Given the description of an element on the screen output the (x, y) to click on. 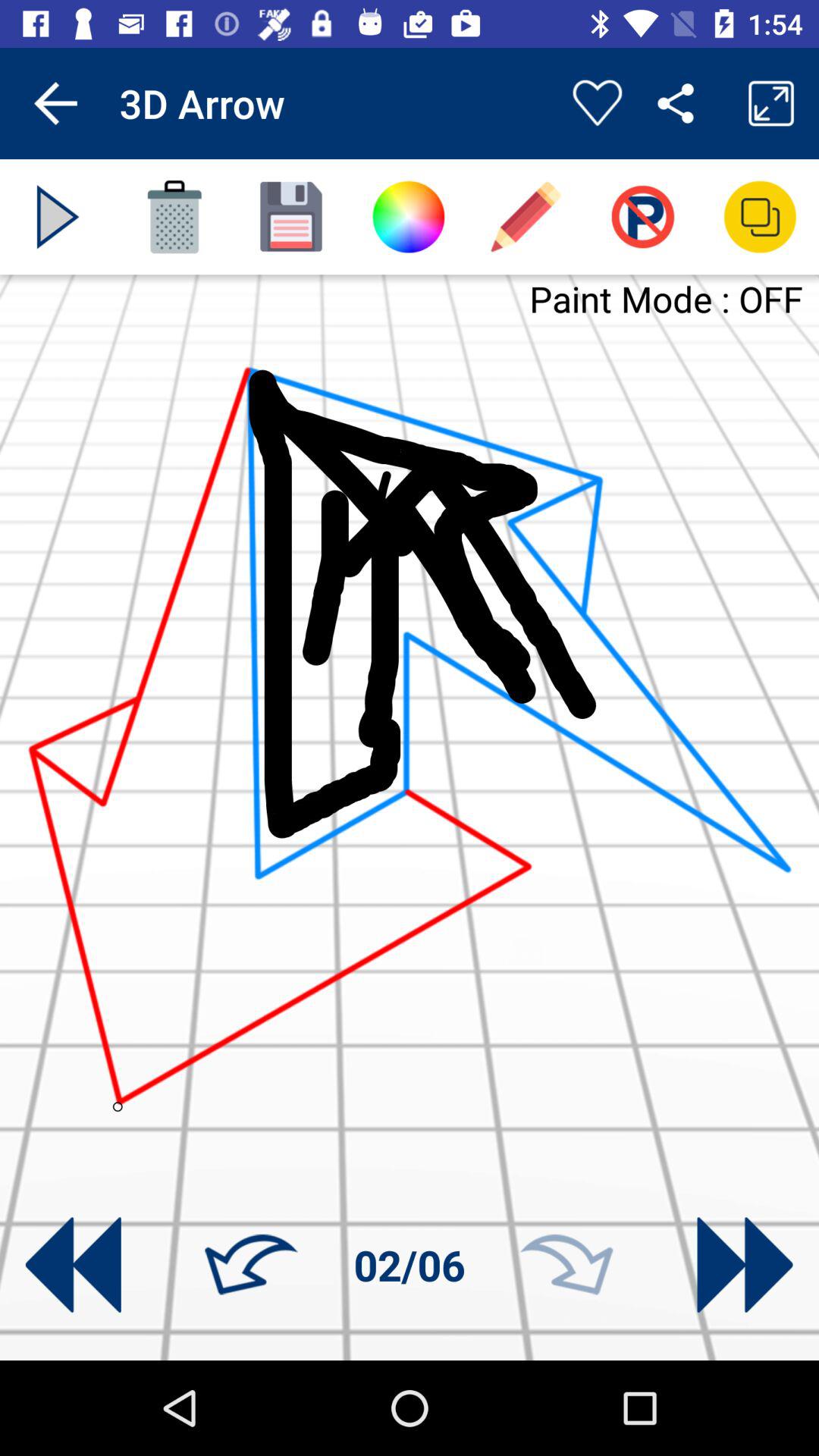
undo (251, 1264)
